Given the description of an element on the screen output the (x, y) to click on. 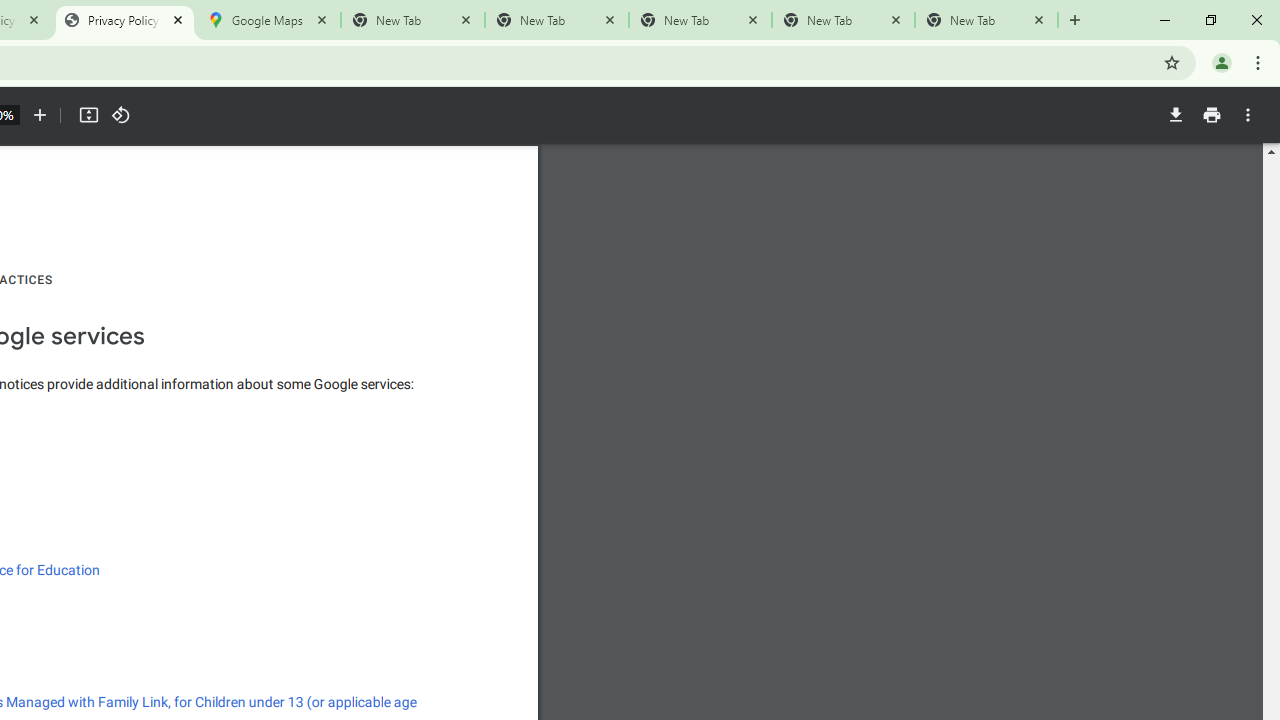
Download (1175, 115)
Rotate counterclockwise (119, 115)
New Tab (986, 20)
More actions (1247, 115)
Zoom in (39, 115)
Print (1211, 115)
Fit to page (87, 115)
Google Maps (268, 20)
